Given the description of an element on the screen output the (x, y) to click on. 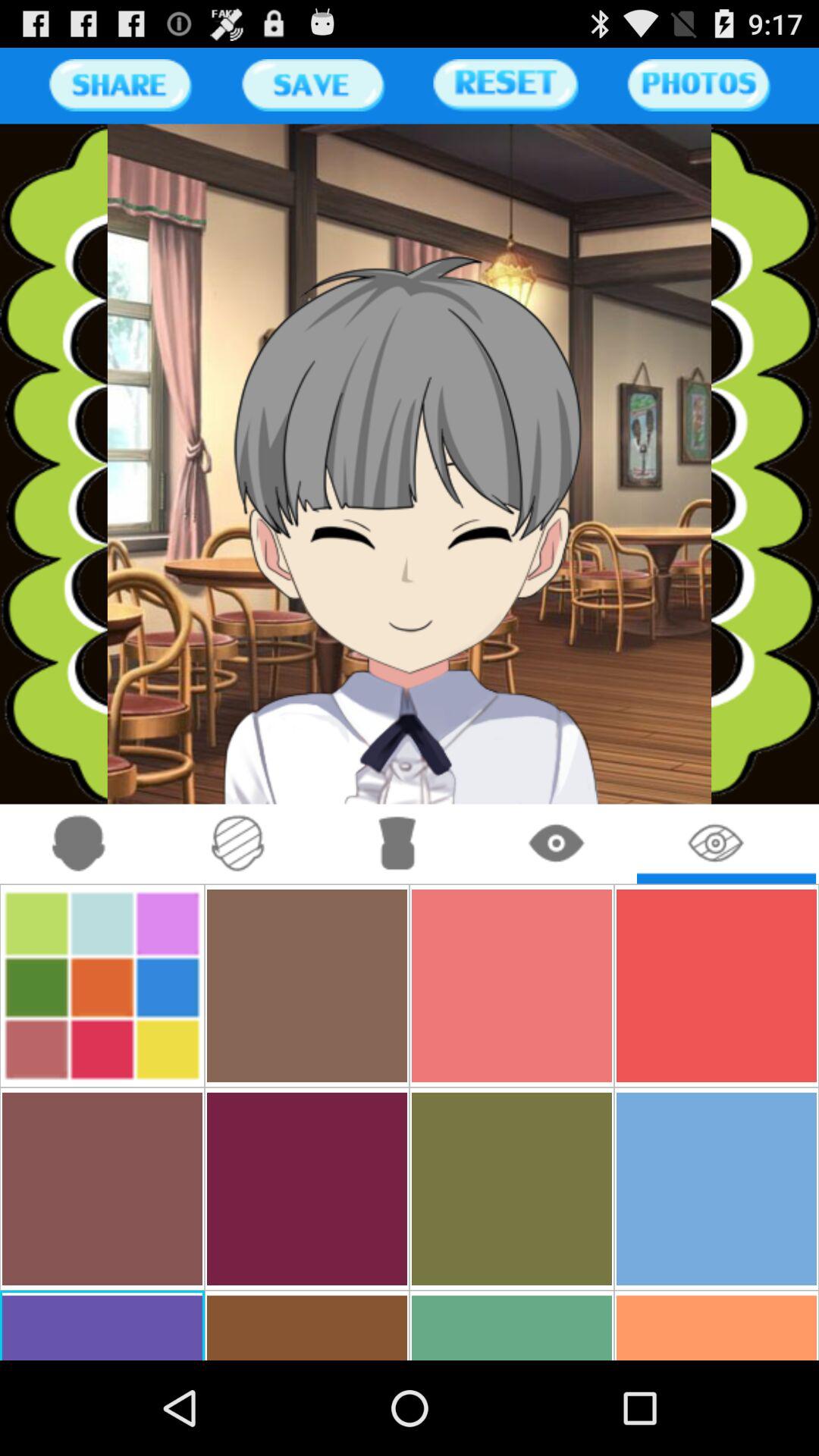
change clothing on the avatar (397, 843)
